Given the description of an element on the screen output the (x, y) to click on. 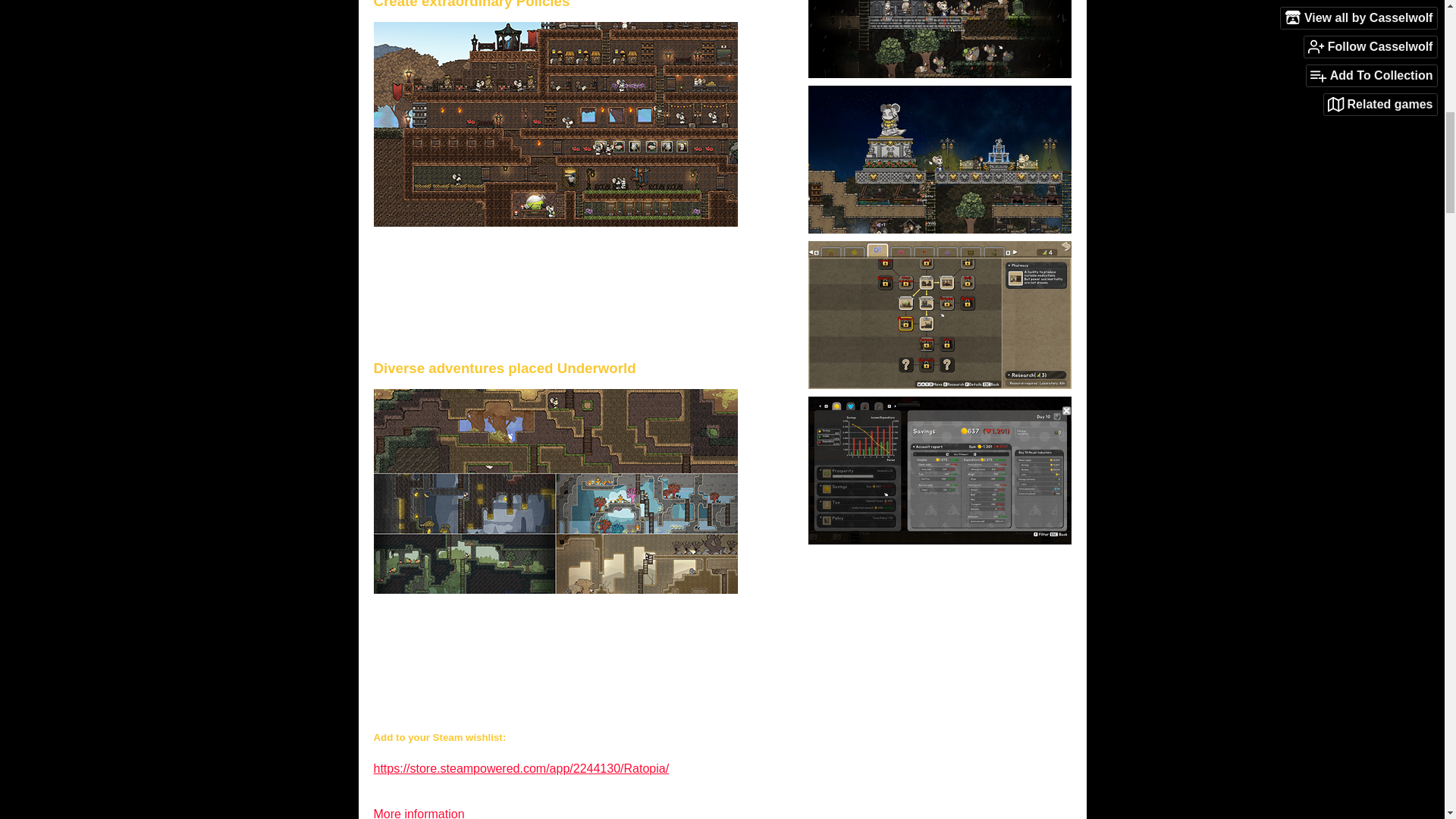
More information (424, 813)
